Given the description of an element on the screen output the (x, y) to click on. 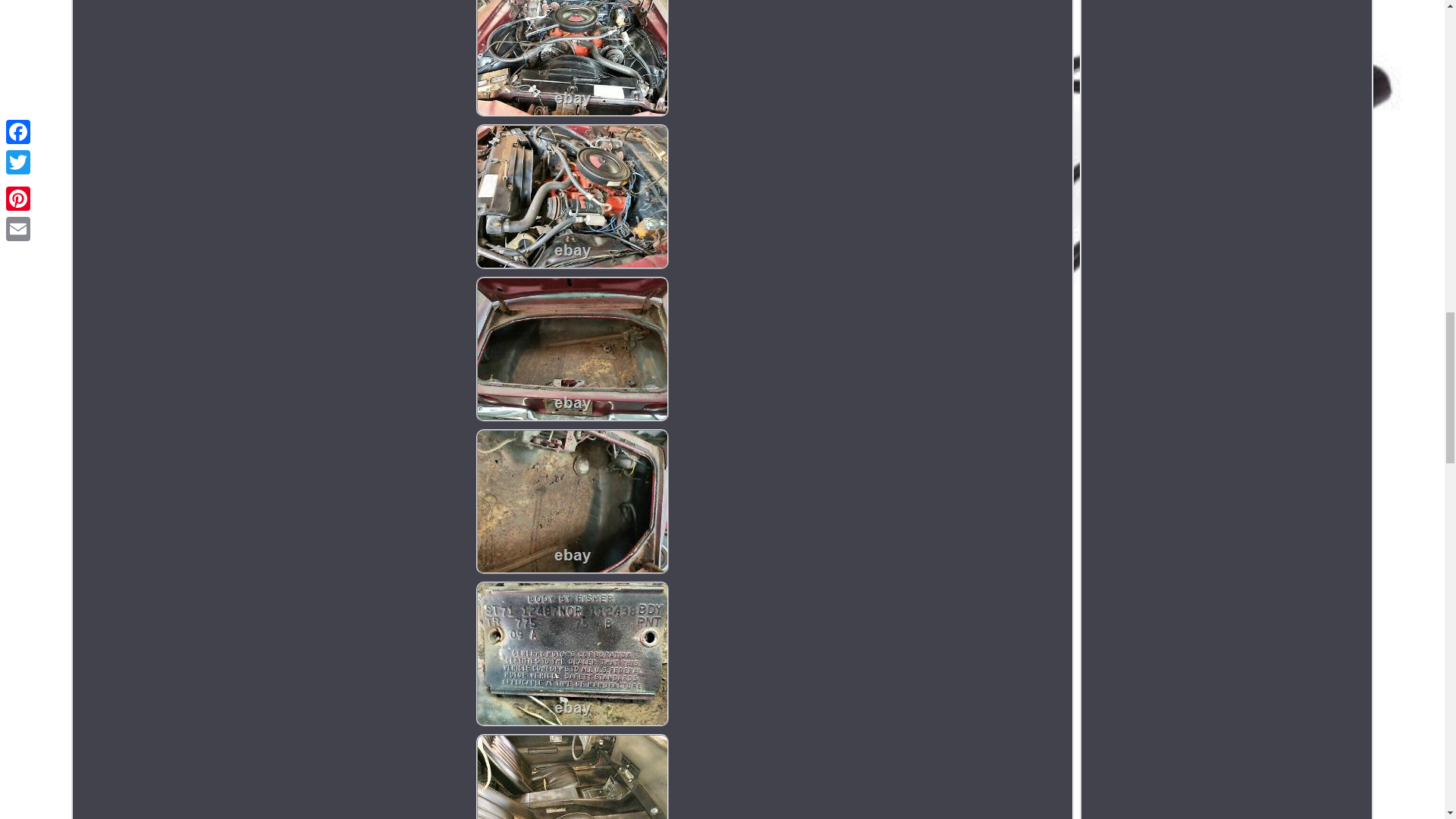
1971 Chevrolet Camaro (572, 196)
1971 Chevrolet Camaro (572, 58)
1971 Chevrolet Camaro (572, 776)
1971 Chevrolet Camaro (572, 653)
1971 Chevrolet Camaro (572, 501)
1971 Chevrolet Camaro (572, 348)
